Given the description of an element on the screen output the (x, y) to click on. 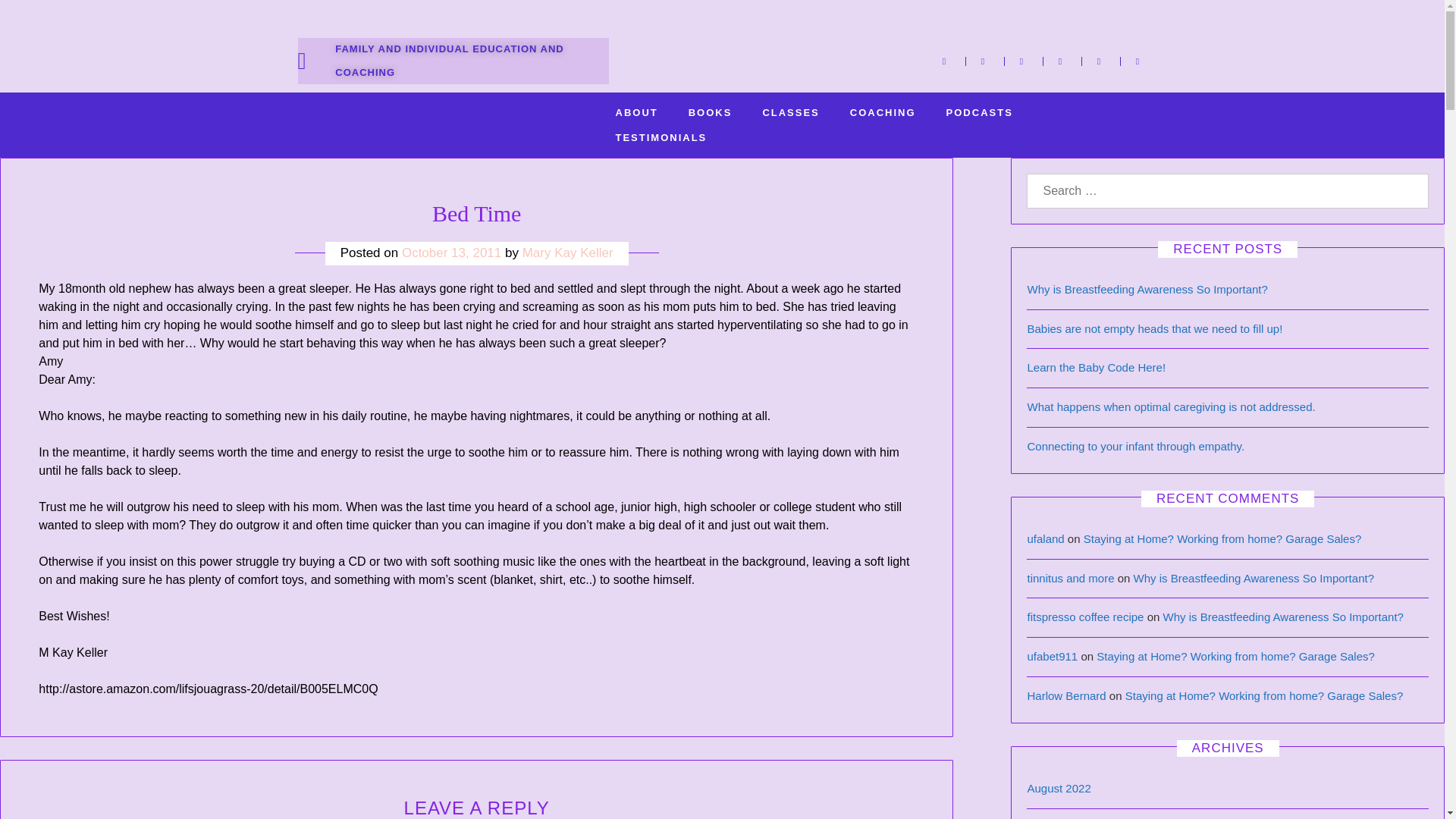
TESTIMONIALS (660, 137)
ufaland (1045, 538)
October 13, 2011 (450, 252)
tinnitus and more (1069, 577)
August 2022 (1058, 788)
CLASSES (790, 112)
Mary Kay Keller (567, 252)
ABOUT (635, 112)
Staying at Home? Working from home? Garage Sales? (1264, 695)
Why is Breastfeeding Awareness So Important? (1283, 616)
